Given the description of an element on the screen output the (x, y) to click on. 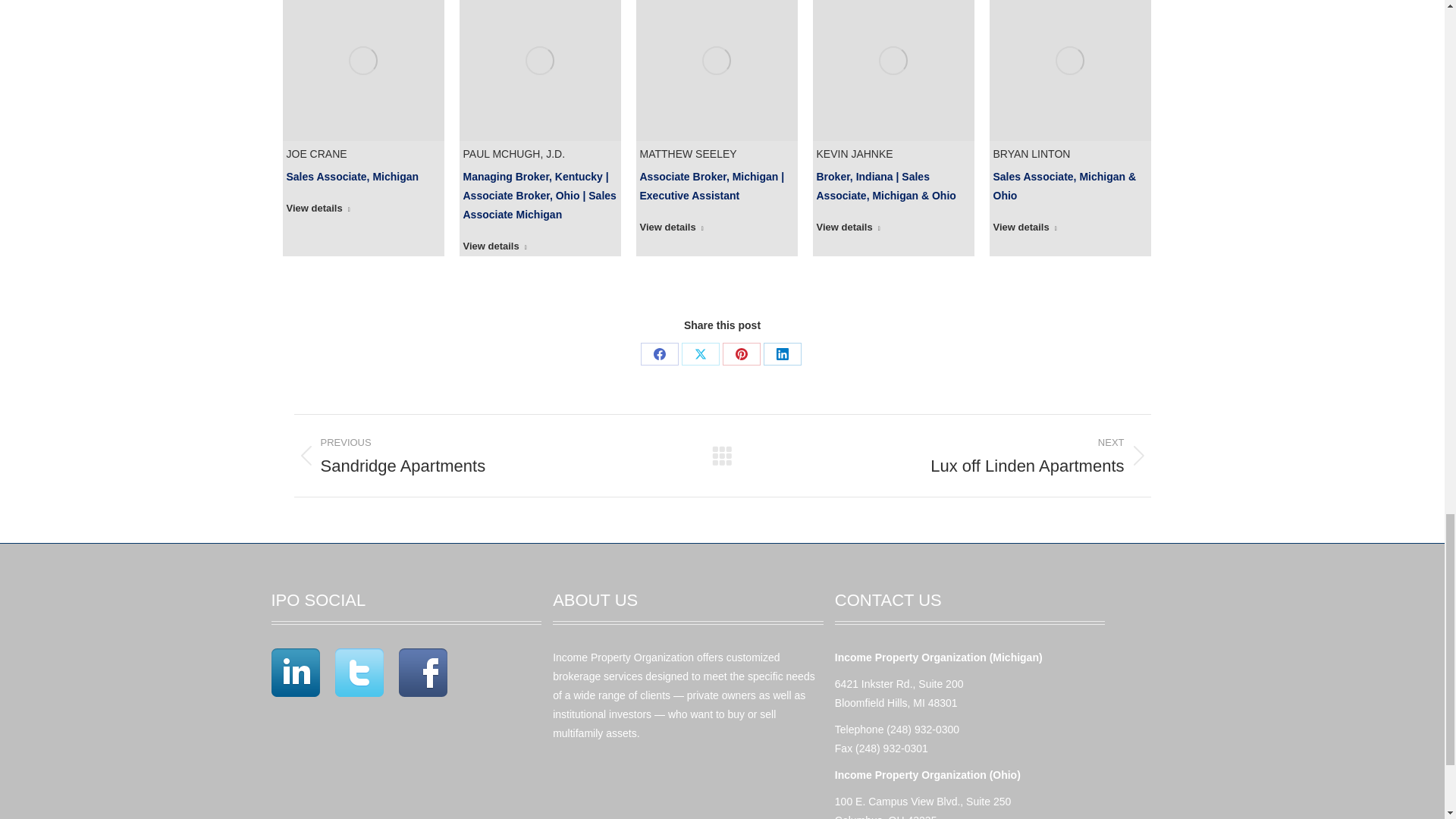
X (700, 354)
Facebook (659, 354)
Pinterest (741, 354)
LinkedIn (781, 354)
